Given the description of an element on the screen output the (x, y) to click on. 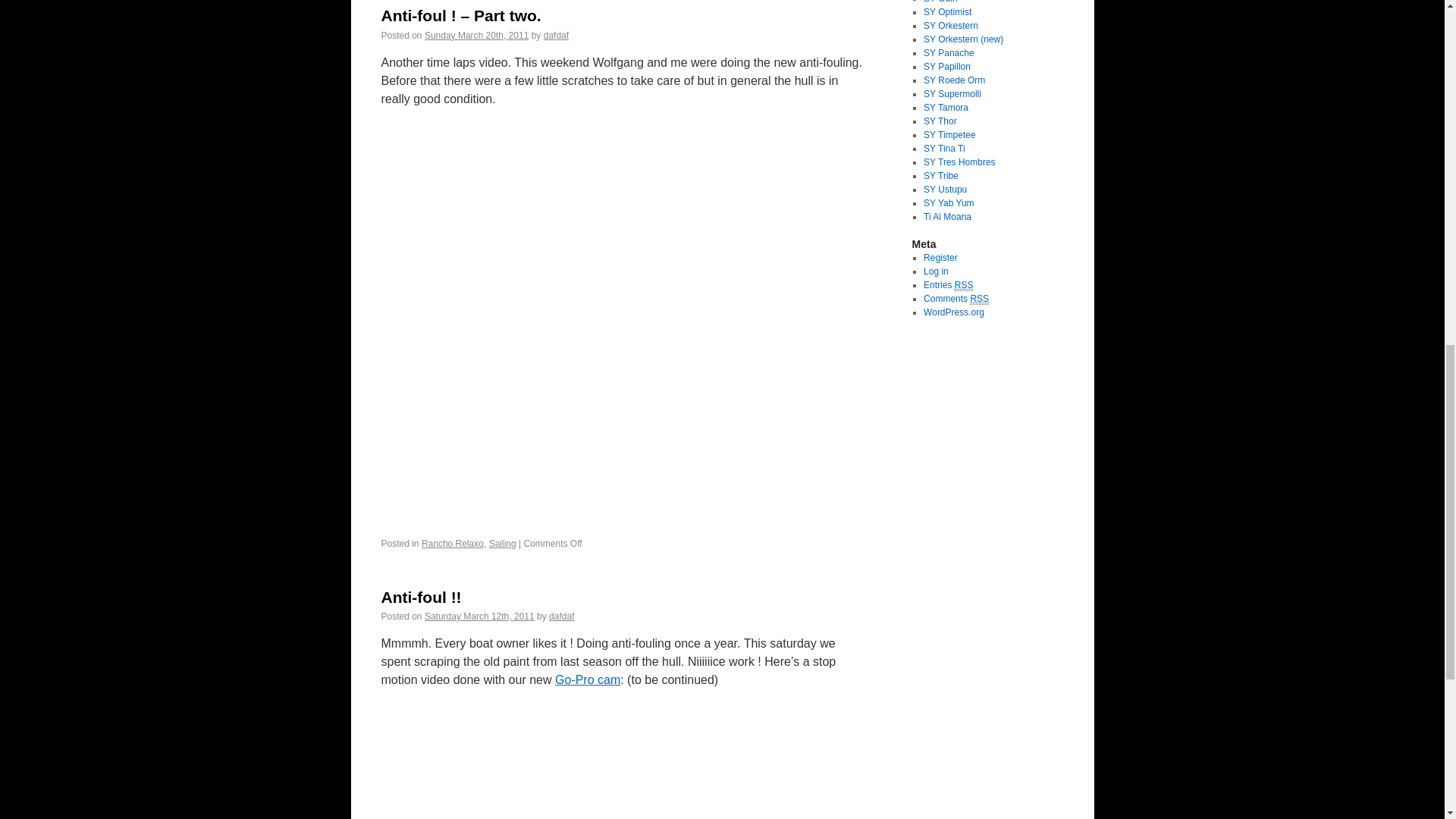
Sunday March 20th, 2011 (476, 35)
Go-Pro cam (587, 679)
Saturday March 12th, 2011 (479, 615)
dafdaf (556, 35)
Anti-foul !! (420, 597)
dafdaf (560, 615)
View all posts by dafdaf (556, 35)
Rancho Relaxo (452, 543)
11:38 PM (476, 35)
Sailing (502, 543)
